Given the description of an element on the screen output the (x, y) to click on. 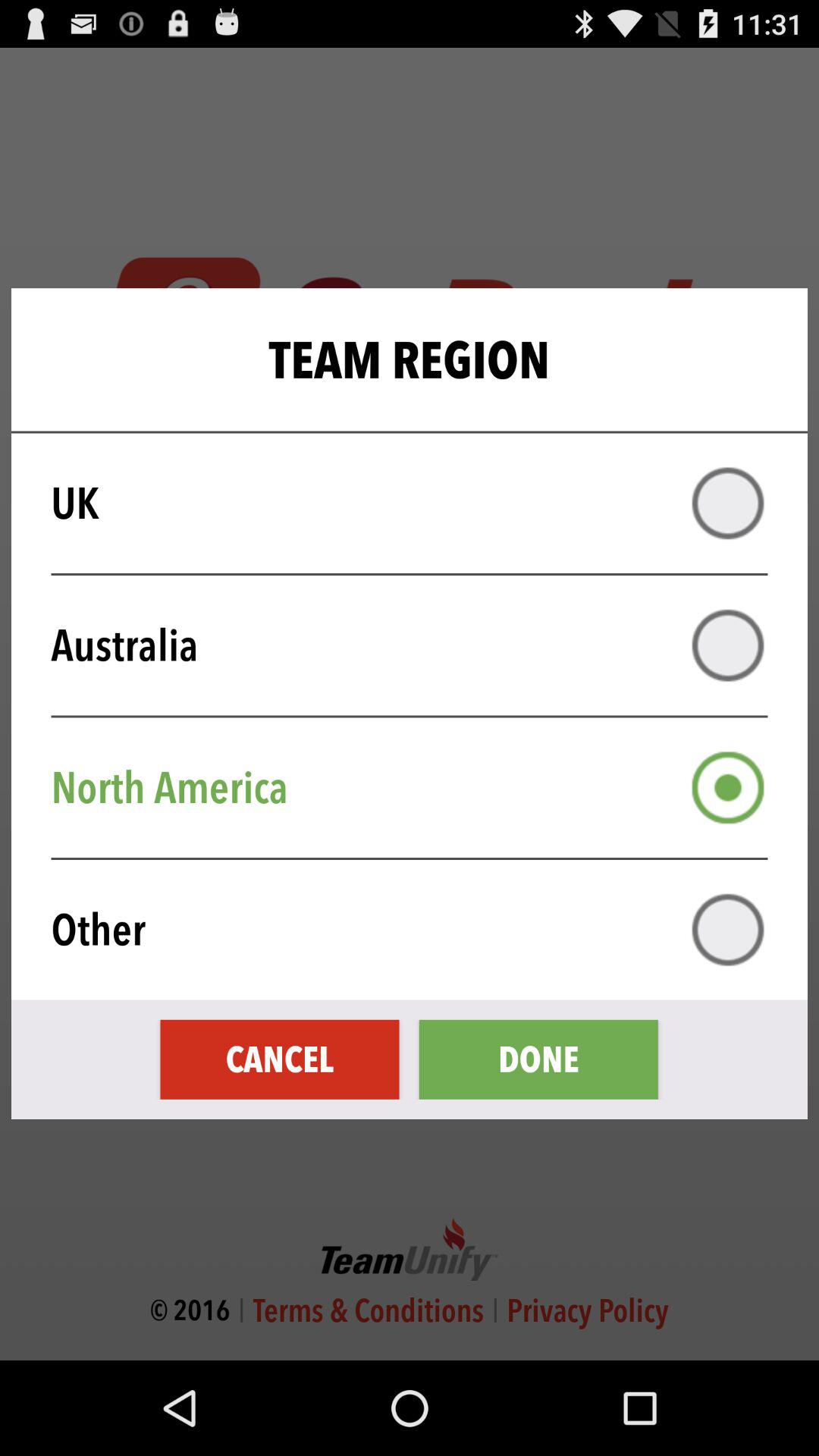
choose the item next to done item (279, 1059)
